Given the description of an element on the screen output the (x, y) to click on. 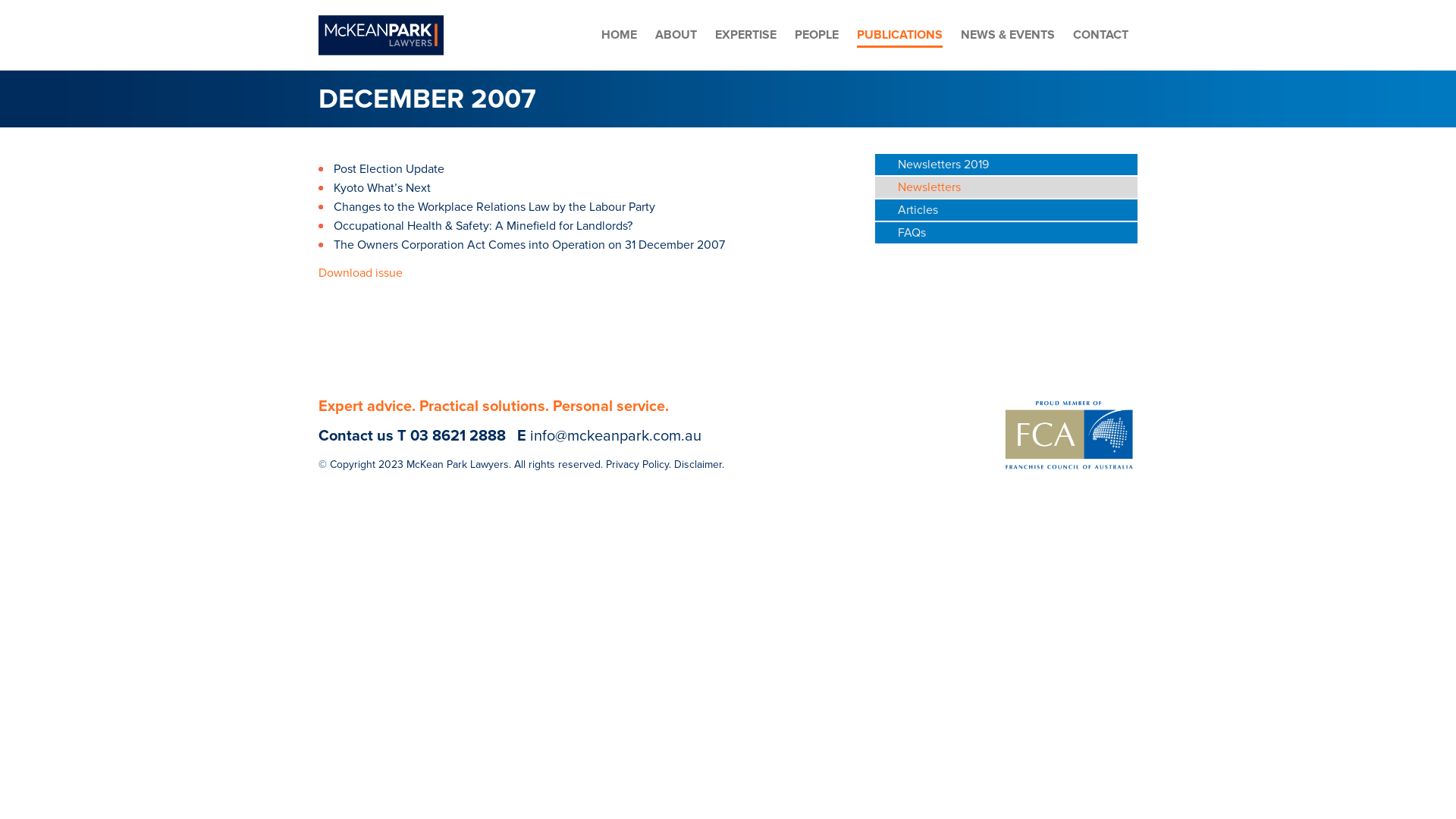
info@mckeanpark.com.au Element type: text (615, 435)
Articles Element type: text (1006, 209)
Copyright Element type: text (352, 464)
Privacy Policy Element type: text (636, 464)
Newsletters 2019 Element type: text (1006, 164)
FAQs Element type: text (1006, 232)
McKean Park Element type: hover (380, 35)
03 8621 2888 Element type: text (457, 435)
ABOUT Element type: text (675, 34)
Download issue Element type: text (360, 272)
PUBLICATIONS Element type: text (899, 35)
NEWS & EVENTS Element type: text (1007, 34)
HOME Element type: text (619, 34)
PEOPLE Element type: text (816, 34)
CONTACT Element type: text (1100, 34)
Disclaimer Element type: text (697, 464)
Newsletters Element type: text (1006, 186)
EXPERTISE Element type: text (745, 34)
